Given the description of an element on the screen output the (x, y) to click on. 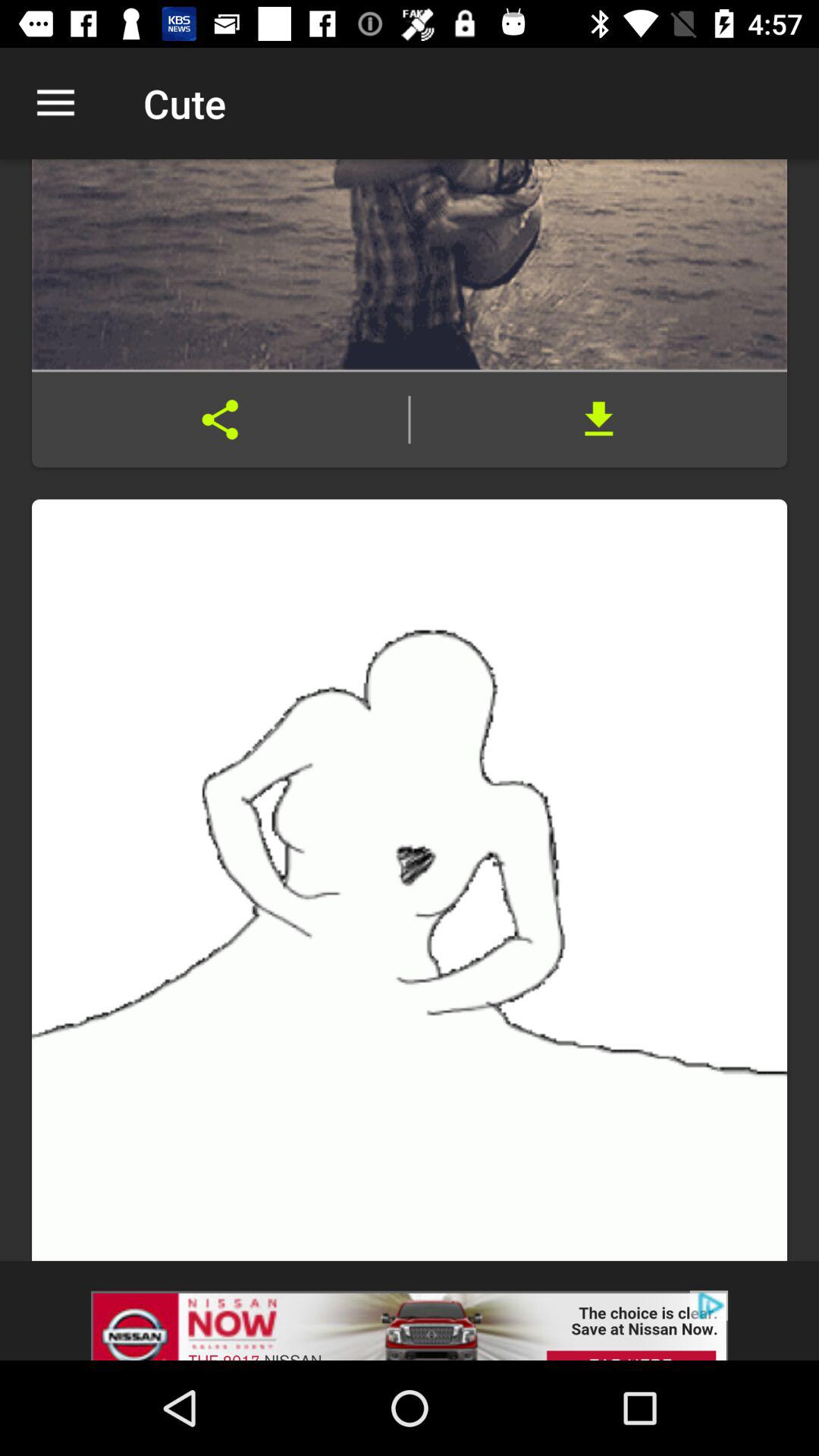
click share (219, 419)
